Given the description of an element on the screen output the (x, y) to click on. 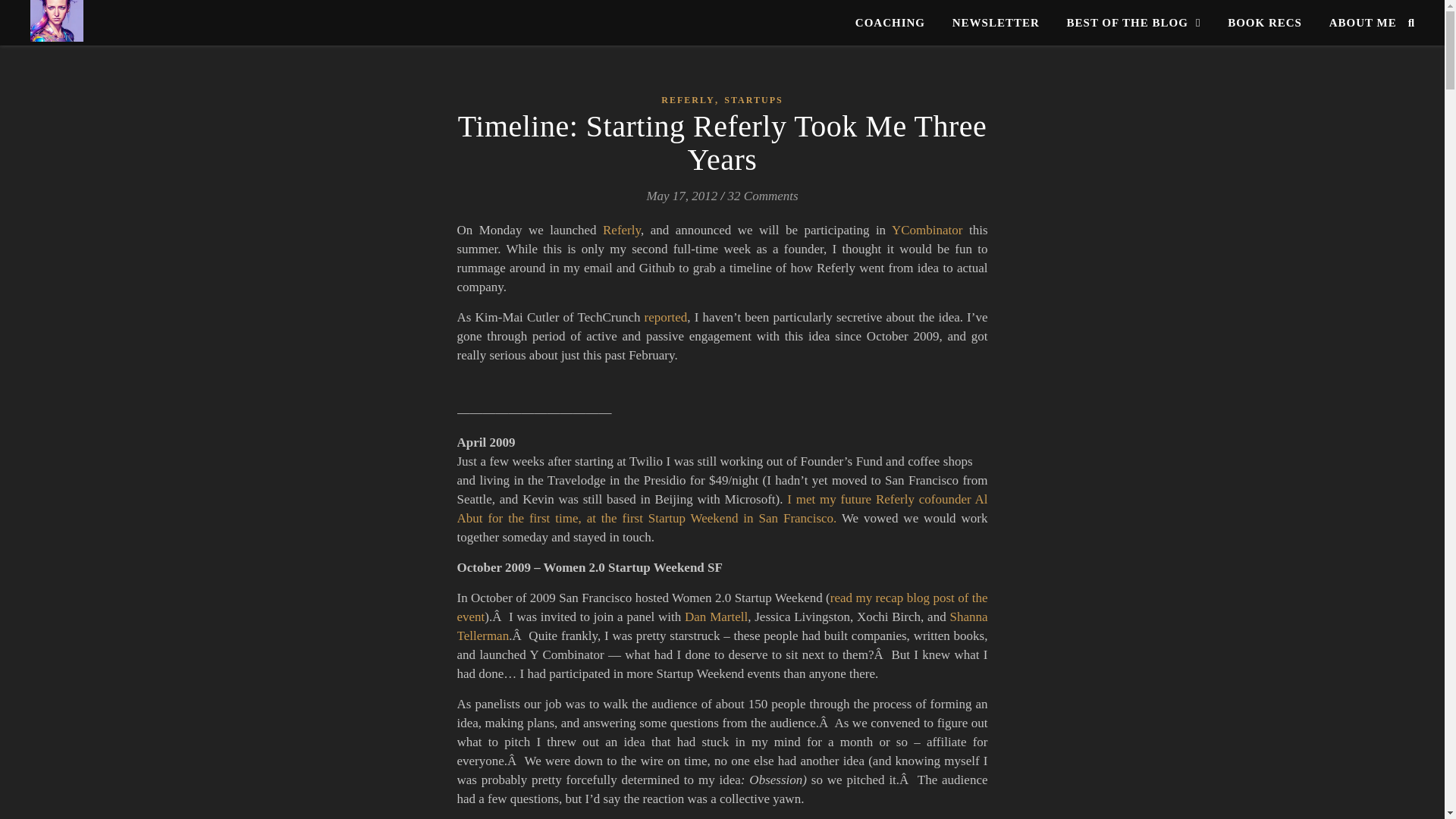
Shanna Tellerman (722, 625)
Dan Martell (716, 616)
ABOUT ME (1356, 22)
32 Comments (762, 196)
BEST OF THE BLOG (1133, 22)
reported (666, 317)
NEWSLETTER (995, 22)
REFERLY (687, 99)
Referly (621, 229)
BOOK RECS (1264, 22)
